Given the description of an element on the screen output the (x, y) to click on. 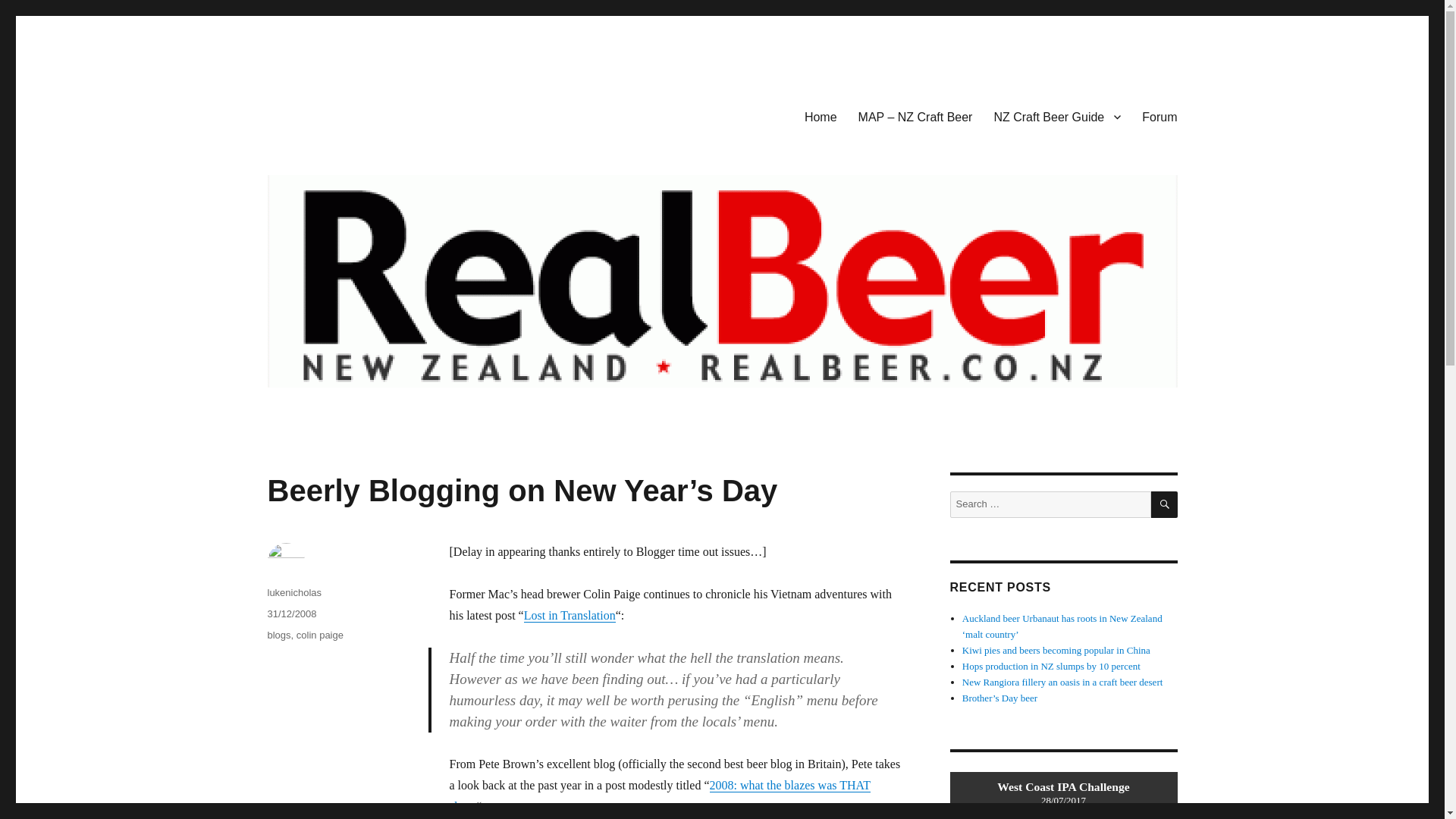
SEARCH (1164, 504)
New Rangiora fillery an oasis in a craft beer desert (1062, 681)
RealBeer.co.nz (341, 114)
colin paige (320, 634)
Kiwi pies and beers becoming popular in China (1056, 650)
Home (820, 116)
Forum (1159, 116)
lukenicholas (293, 592)
2008: what the blazes was THAT about (659, 795)
blogs (277, 634)
Lost in Translation (569, 615)
Hops production in NZ slumps by 10 percent (1051, 665)
NZ Craft Beer Guide (1056, 116)
